Given the description of an element on the screen output the (x, y) to click on. 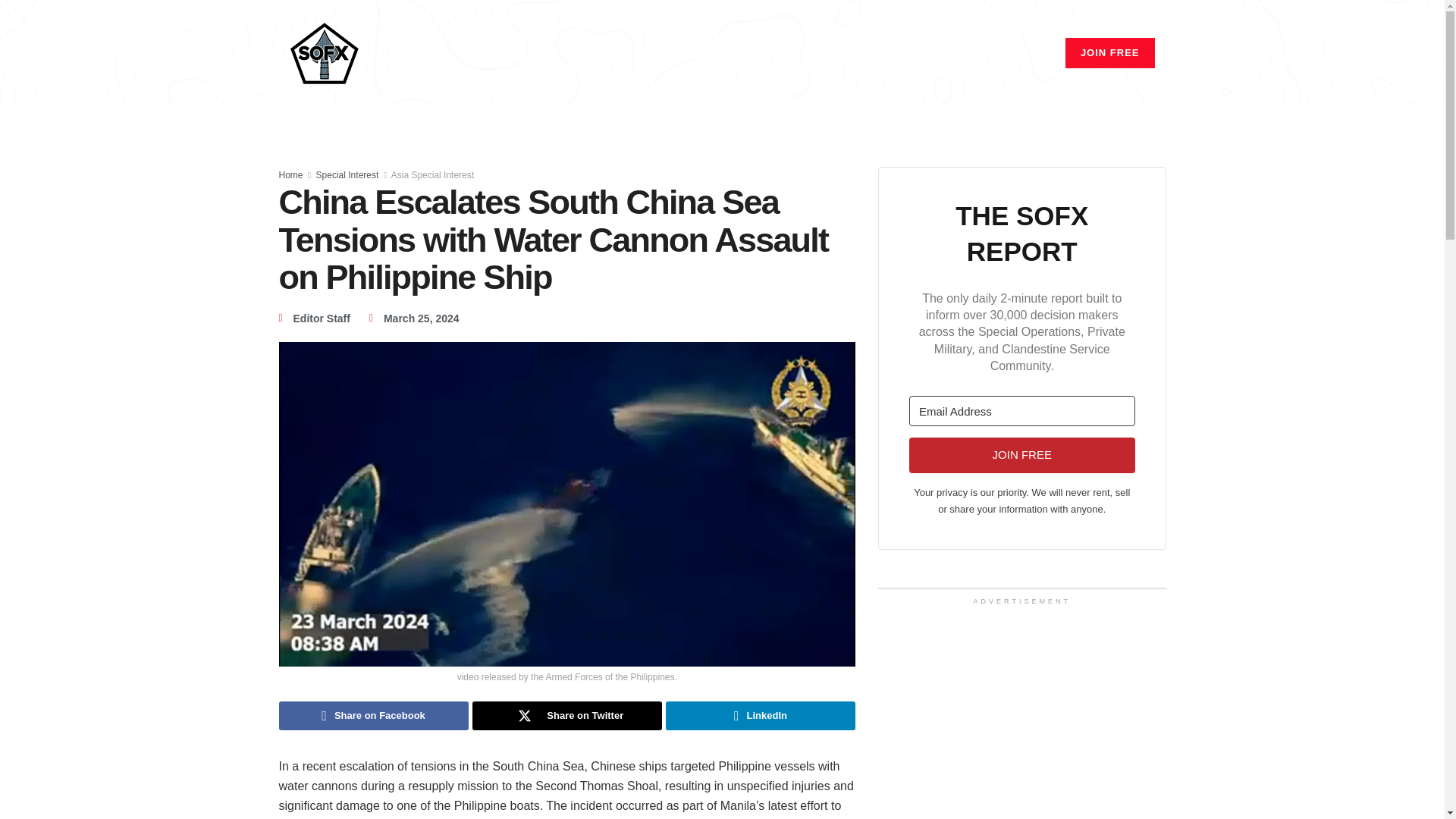
Intelligence (902, 52)
Community (765, 52)
Resources (980, 52)
Home (651, 52)
Market (833, 52)
News (700, 52)
